Given the description of an element on the screen output the (x, y) to click on. 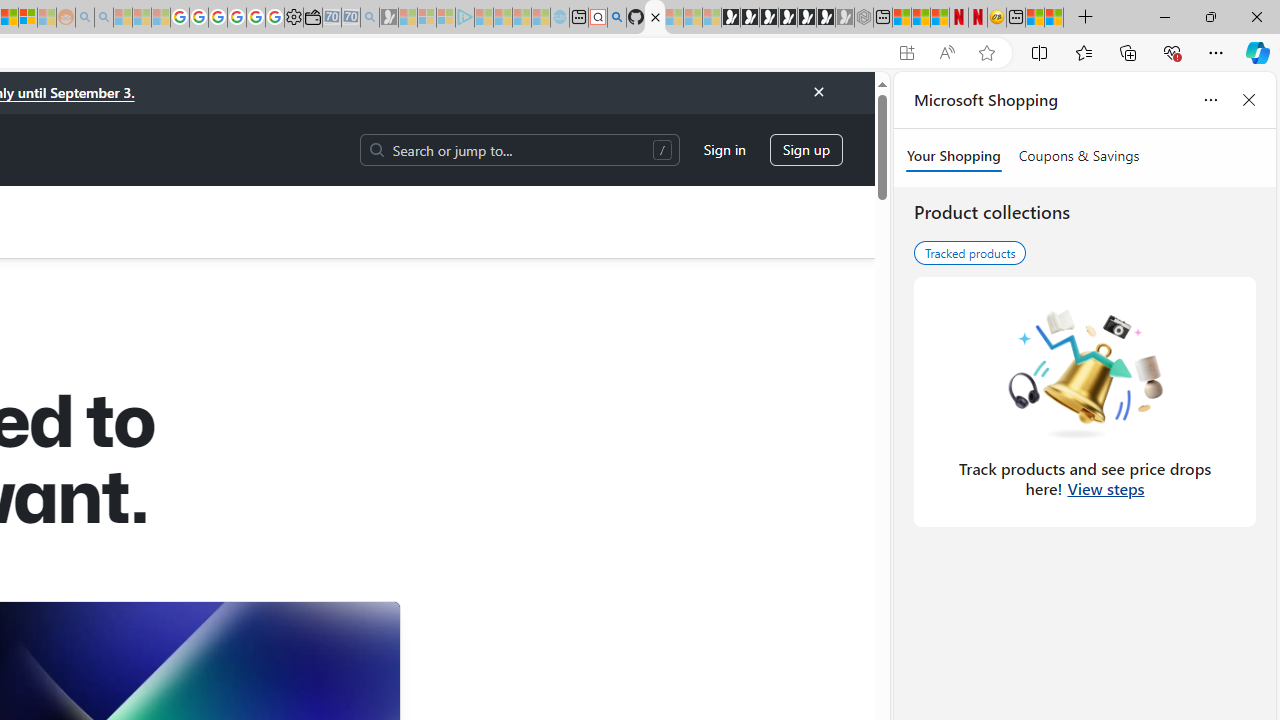
github - Search (616, 17)
